Given the description of an element on the screen output the (x, y) to click on. 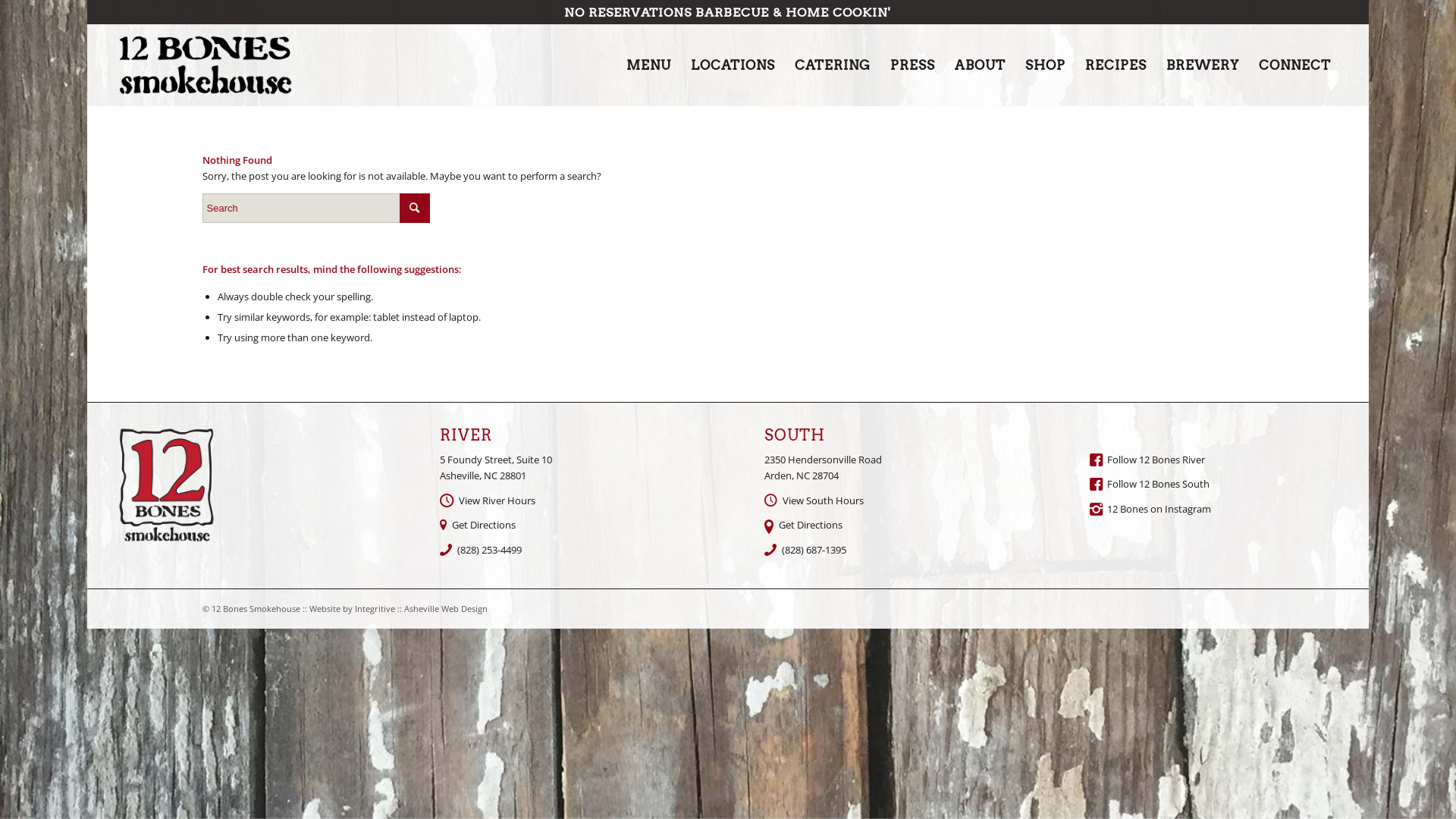
Website by Integritive :: Asheville Web Design Element type: text (398, 608)
12 Bones on Instagram Element type: text (1159, 508)
(828) 253-4499 Element type: text (489, 549)
Get Directions Element type: text (483, 524)
CATERING Element type: text (832, 64)
NO RESERVATIONS BARBECUE & HOME COOKIN' Element type: text (727, 12)
(828) 687-1395 Element type: text (813, 549)
Follow 12 Bones River Element type: text (1155, 459)
ABOUT Element type: text (979, 64)
MENU Element type: text (648, 64)
Get Directions Element type: text (810, 524)
BREWERY Element type: text (1202, 64)
View River Hours Element type: text (496, 500)
SHOP Element type: text (1045, 64)
View South Hours Element type: text (822, 500)
PRESS Element type: text (912, 64)
CONNECT Element type: text (1294, 64)
RECIPES Element type: text (1115, 64)
LOCATIONS Element type: text (732, 64)
Follow 12 Bones South Element type: text (1158, 483)
